Given the description of an element on the screen output the (x, y) to click on. 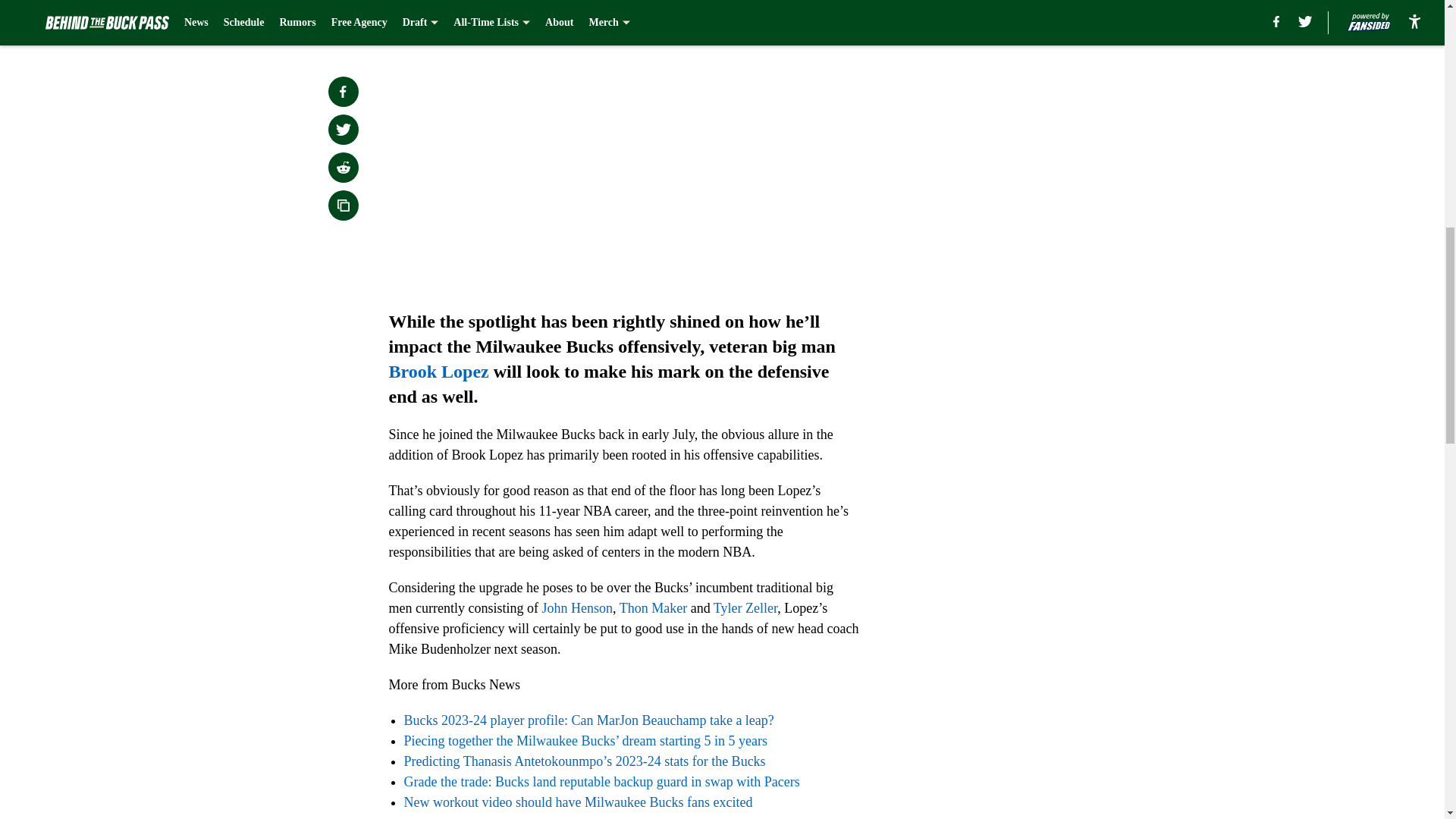
Tyler Zeller (745, 607)
John Henson (576, 607)
New workout video should have Milwaukee Bucks fans excited (577, 801)
Brook Lopez (437, 371)
Thon Maker (653, 607)
